Given the description of an element on the screen output the (x, y) to click on. 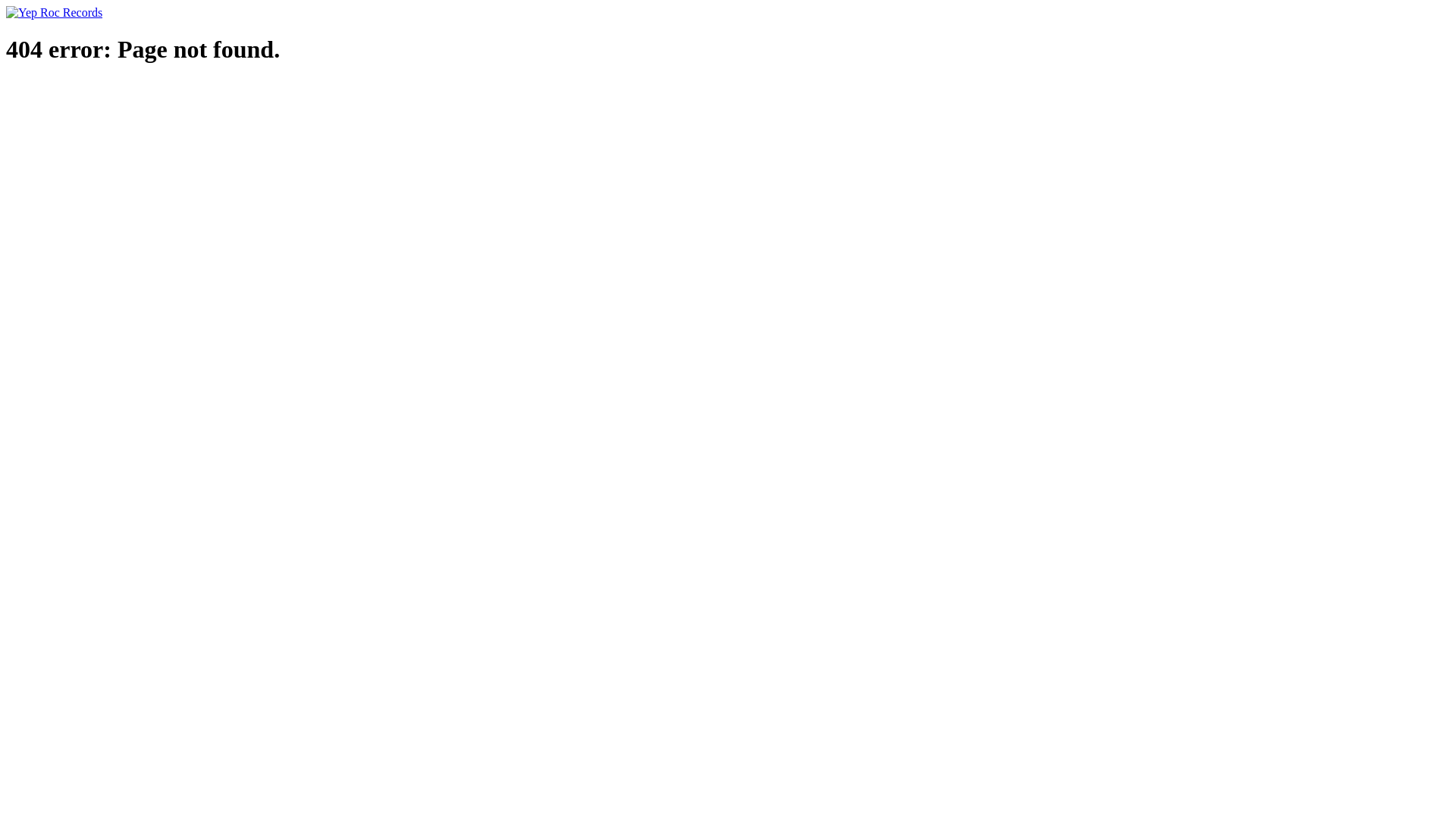
Yep Roc Records Element type: hover (54, 12)
